Given the description of an element on the screen output the (x, y) to click on. 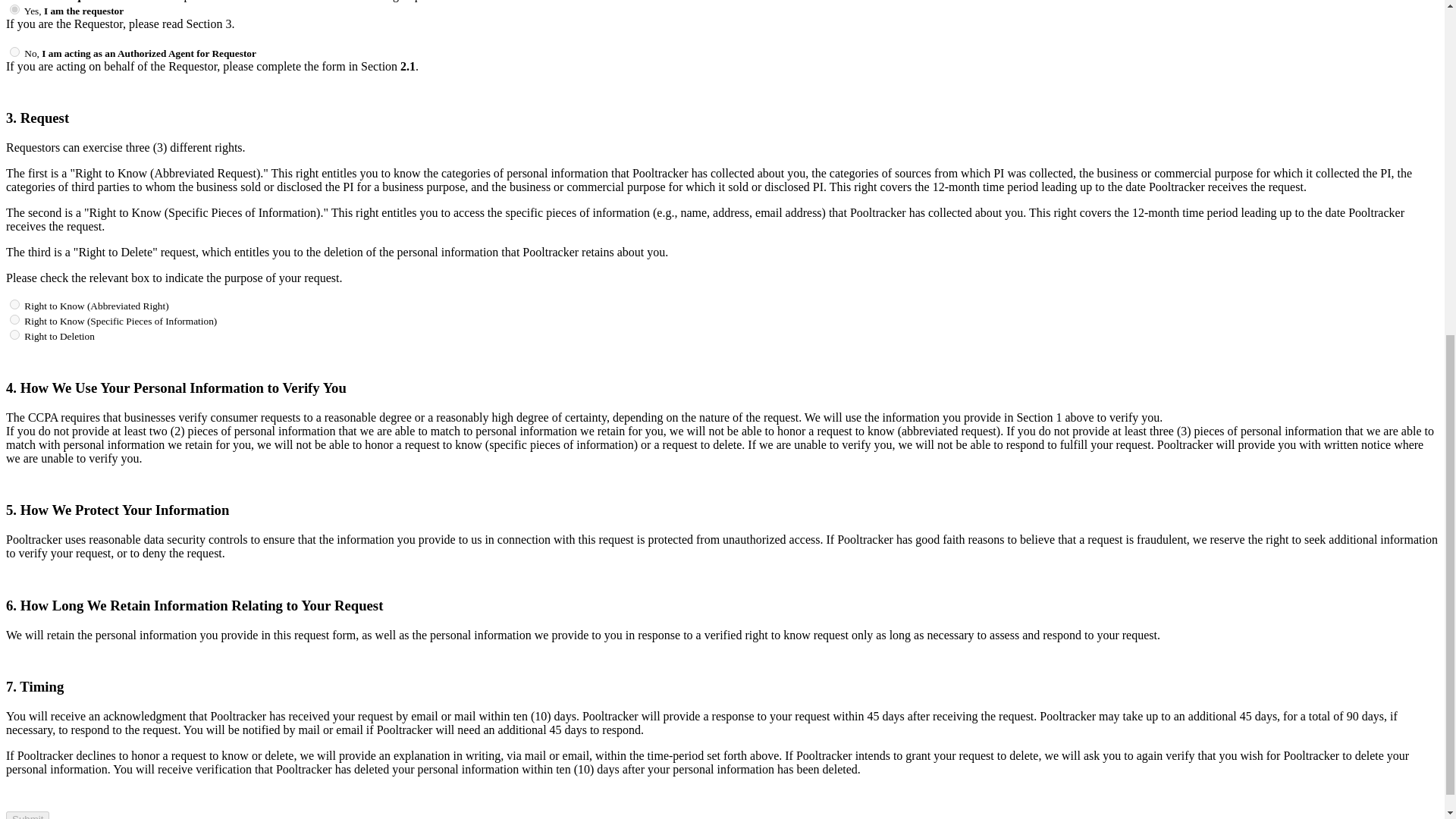
Right to Know (15, 319)
Right to Deletion (15, 334)
isRequestorYes (15, 9)
Right to Know Abbreviated (15, 304)
isRequestorNo (15, 51)
